Given the description of an element on the screen output the (x, y) to click on. 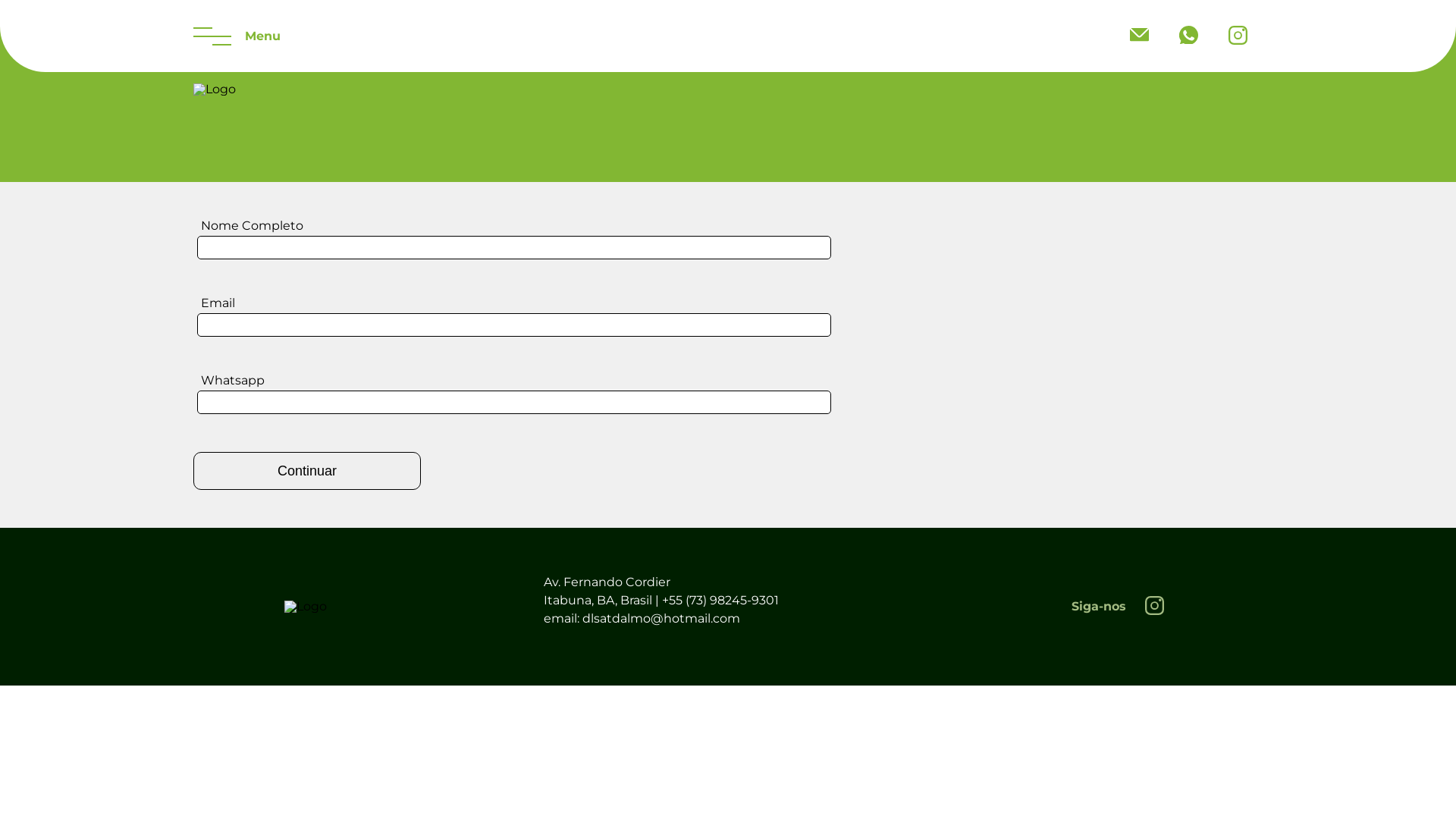
Ir para home Element type: hover (305, 606)
https://www.instagram.com/ Element type: hover (1154, 606)
Continuar Element type: text (306, 470)
https://www.instagram.com/ Element type: hover (1237, 36)
(73) 98245-9301 Element type: hover (1188, 36)
dlsatdalmo@hotmail.com Element type: hover (1139, 35)
Ir para home Element type: hover (214, 89)
